Given the description of an element on the screen output the (x, y) to click on. 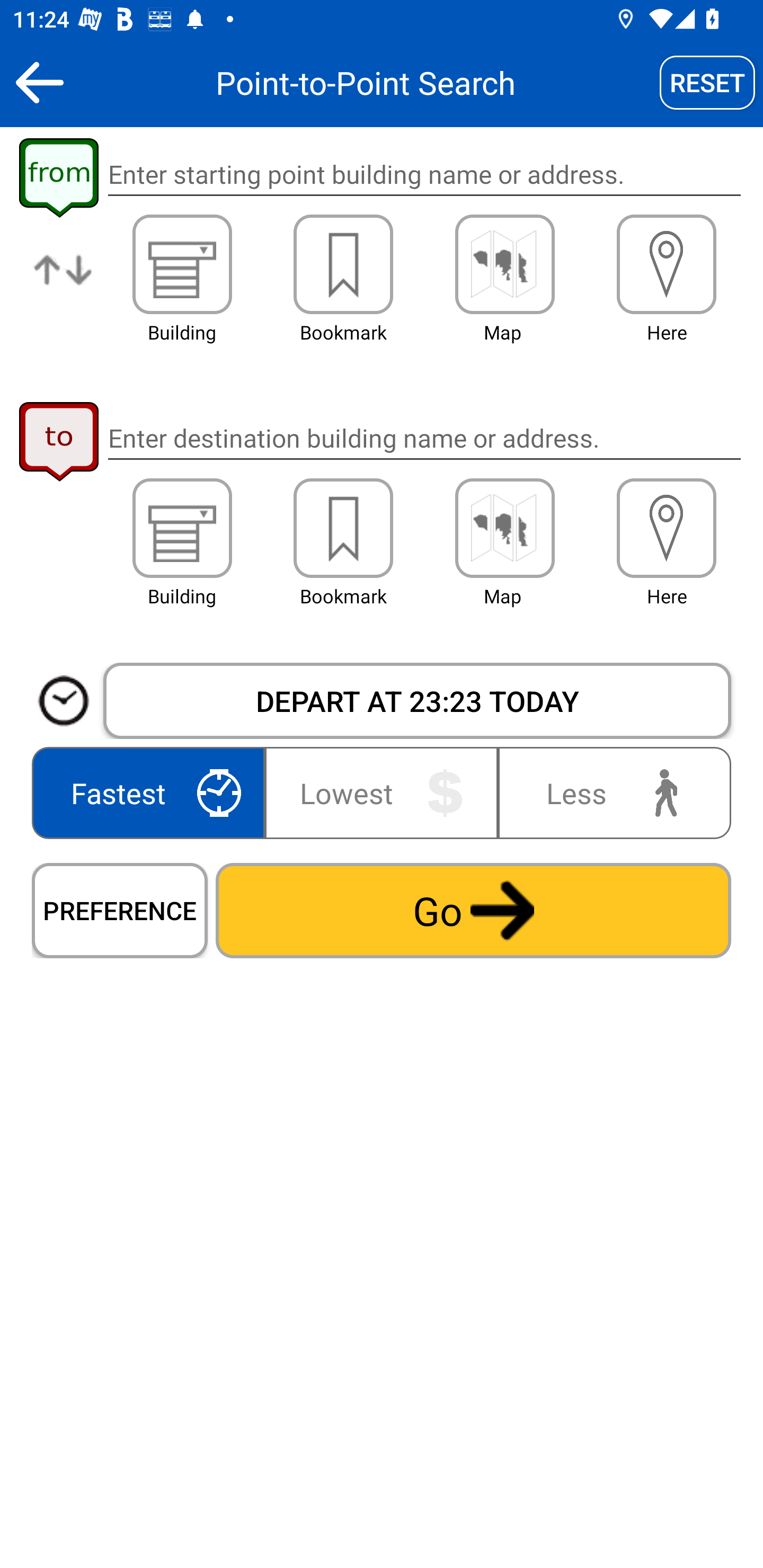
Back (39, 82)
RESET Reset (707, 81)
Enter starting point building name or address. (423, 174)
Building (181, 263)
Bookmarks (342, 263)
Select location on map (504, 263)
Here (666, 263)
Swap origin and destination (63, 284)
Enter destination building name or address. (423, 437)
Building (181, 528)
Bookmarks (342, 528)
Select location on map (504, 528)
Here (666, 528)
Lowest (381, 792)
Fastest selected (151, 792)
Less (610, 792)
PREFERENCE Preference (119, 910)
Go (472, 910)
